Given the description of an element on the screen output the (x, y) to click on. 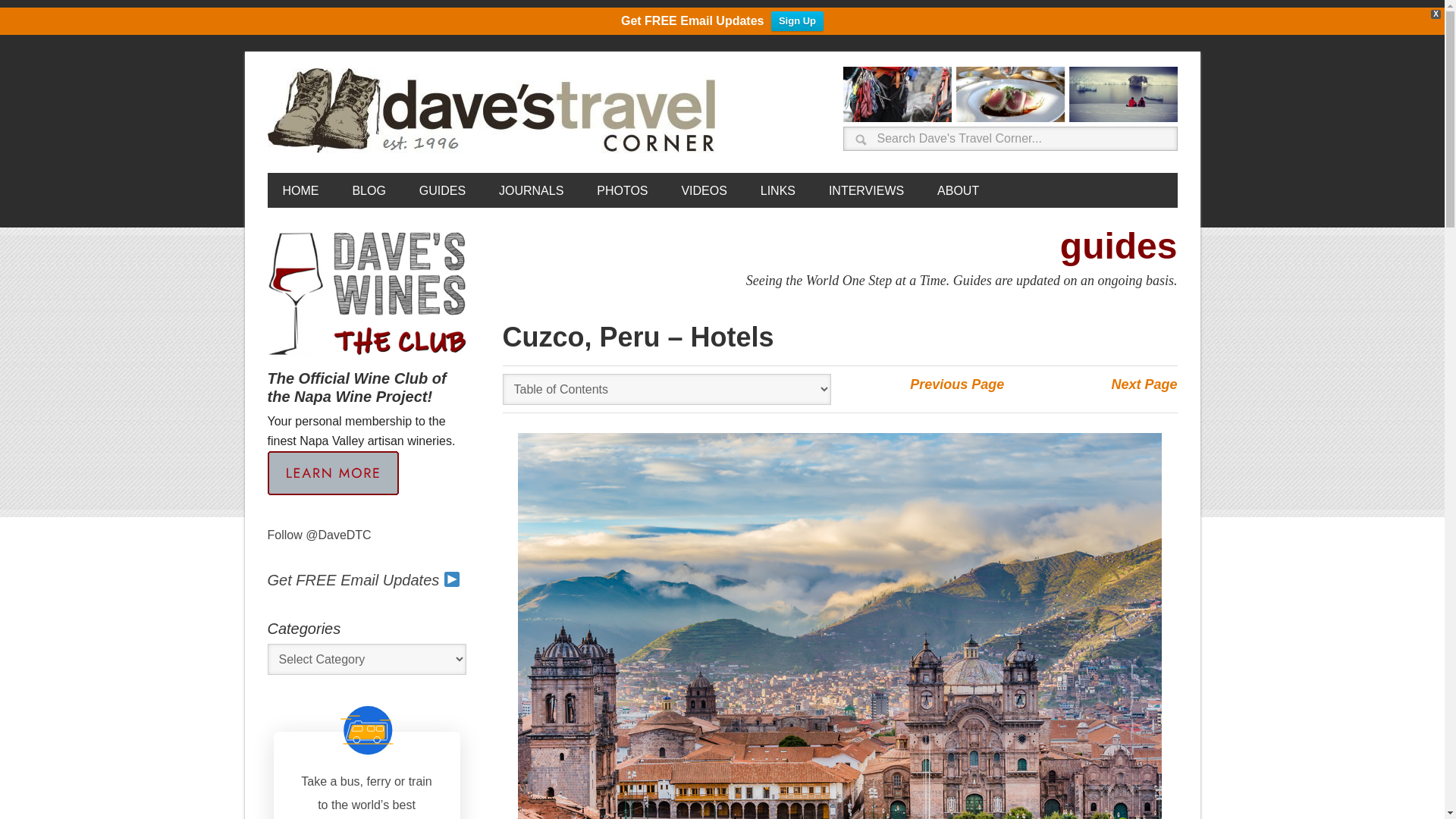
INTERVIEWS (865, 190)
HOME (299, 190)
DAVE'S TRAVEL CORNER (494, 110)
Next Page (1143, 384)
VIDEOS (703, 190)
ABOUT (957, 190)
JOURNALS (530, 190)
Sign Up (797, 21)
Previous Page (957, 384)
BLOG (368, 190)
GUIDES (442, 190)
Get FREE Email Updates (363, 579)
LINKS (777, 190)
